Given the description of an element on the screen output the (x, y) to click on. 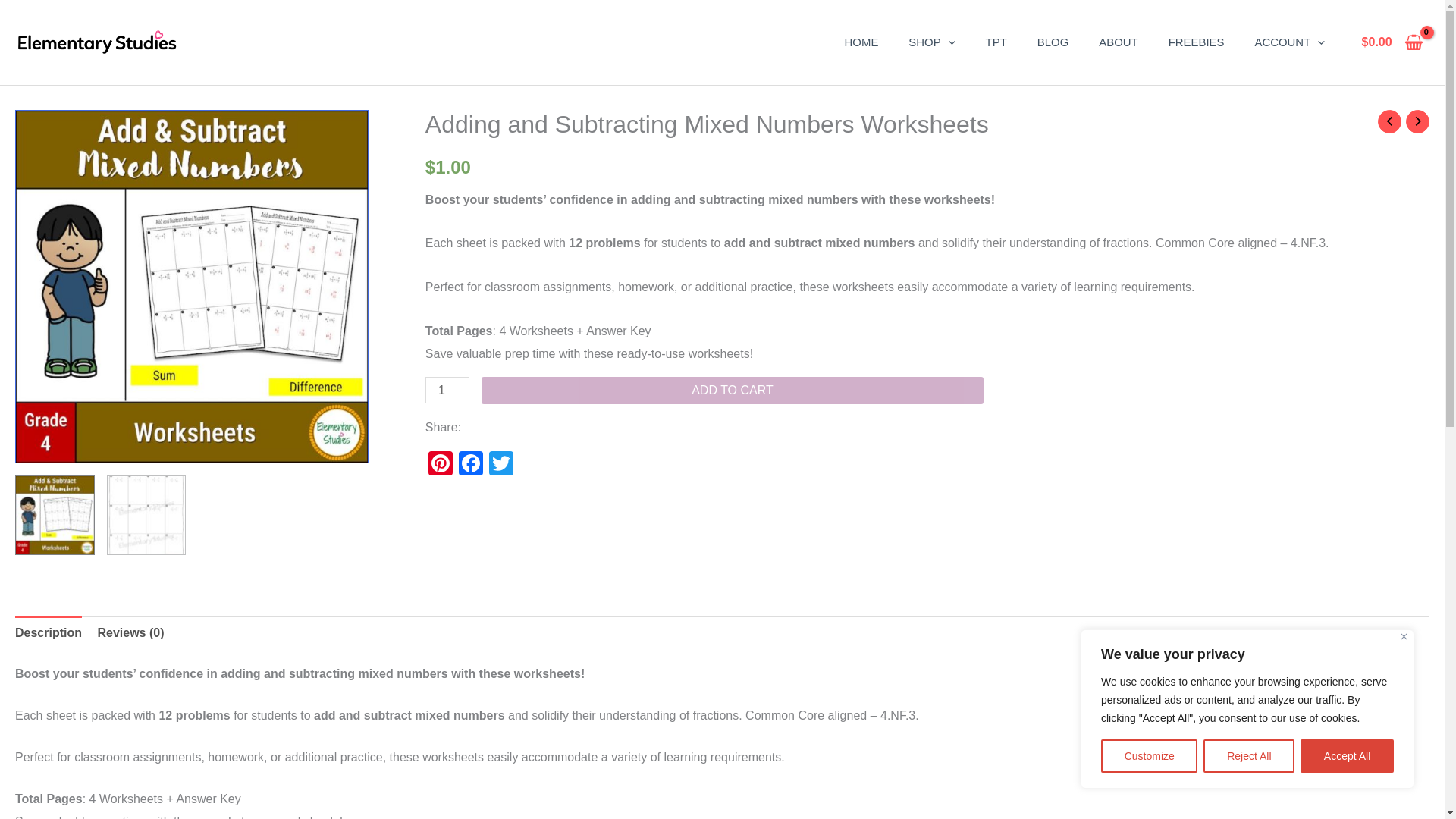
Customize (1148, 756)
HOME (861, 42)
FREEBIES (1196, 42)
1 (446, 389)
Adding and Subtracting Mixed Numbers Worksheets (191, 286)
Accept All (1346, 756)
Facebook (470, 465)
ACCOUNT (1289, 42)
Reject All (1249, 756)
ABOUT (1118, 42)
Twitter (501, 465)
Pinterest (440, 465)
SHOP (931, 42)
BLOG (1052, 42)
